Given the description of an element on the screen output the (x, y) to click on. 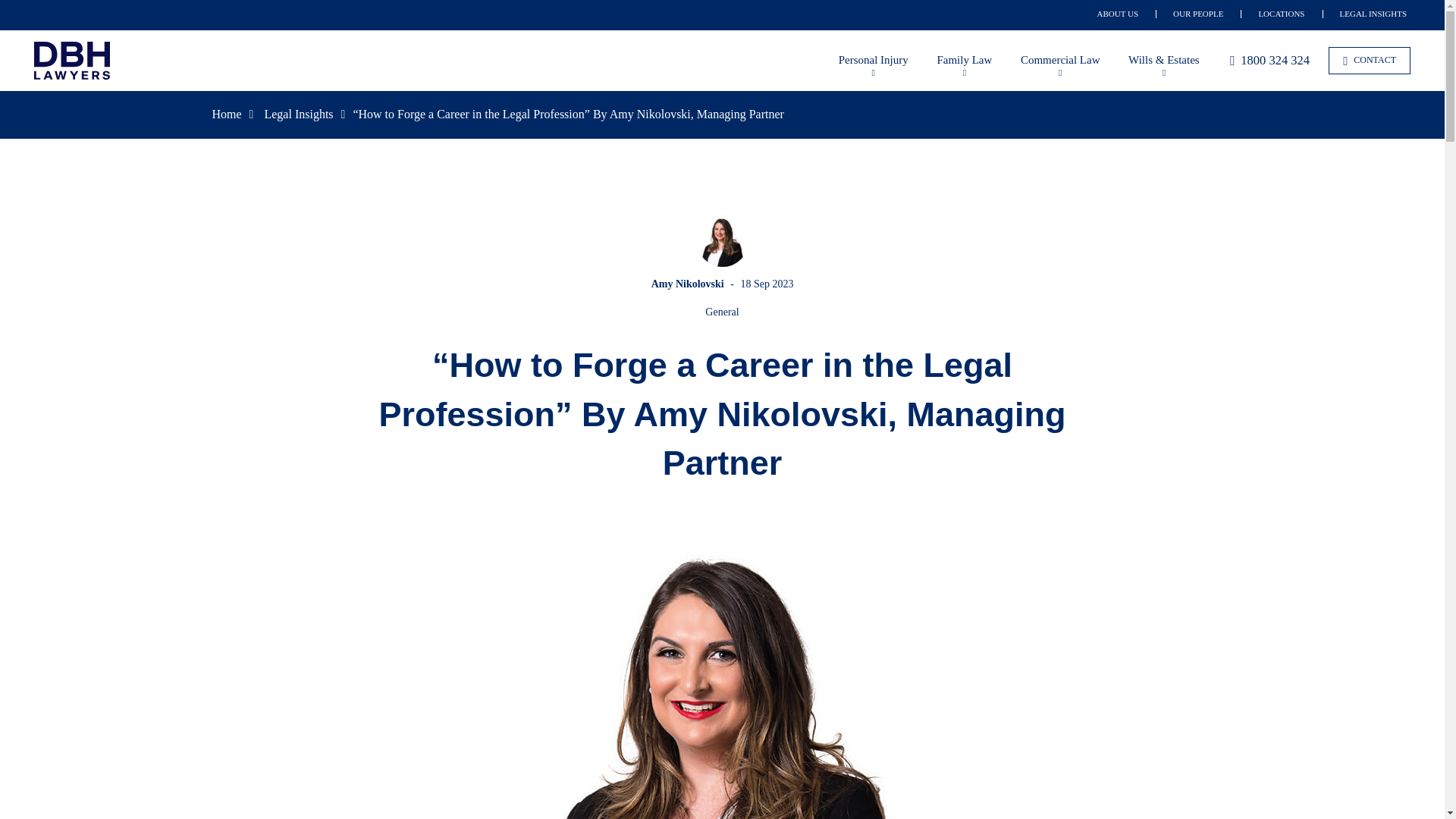
ABOUT US (1118, 13)
Personal Injury (873, 60)
Family Law (963, 60)
OUR PEOPLE (1198, 13)
Commercial Law (1060, 60)
LOCATIONS (1280, 13)
LEGAL INSIGHTS (1372, 13)
